Given the description of an element on the screen output the (x, y) to click on. 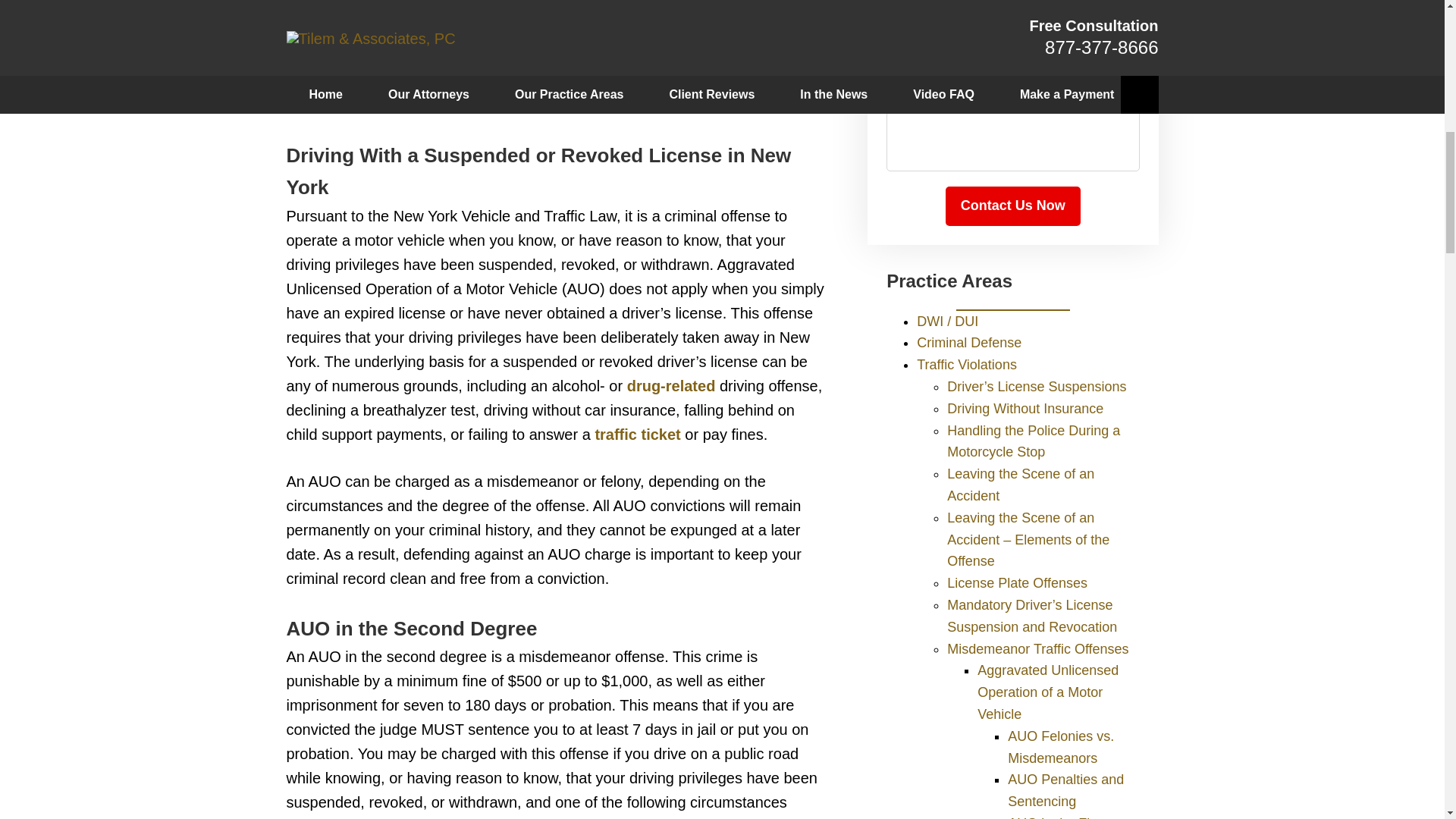
Contact Us Now (1012, 206)
drug-related (671, 385)
Criminal Defense (969, 342)
traffic ticket (636, 434)
Practice Areas (948, 281)
Traffic Violations (966, 364)
